Given the description of an element on the screen output the (x, y) to click on. 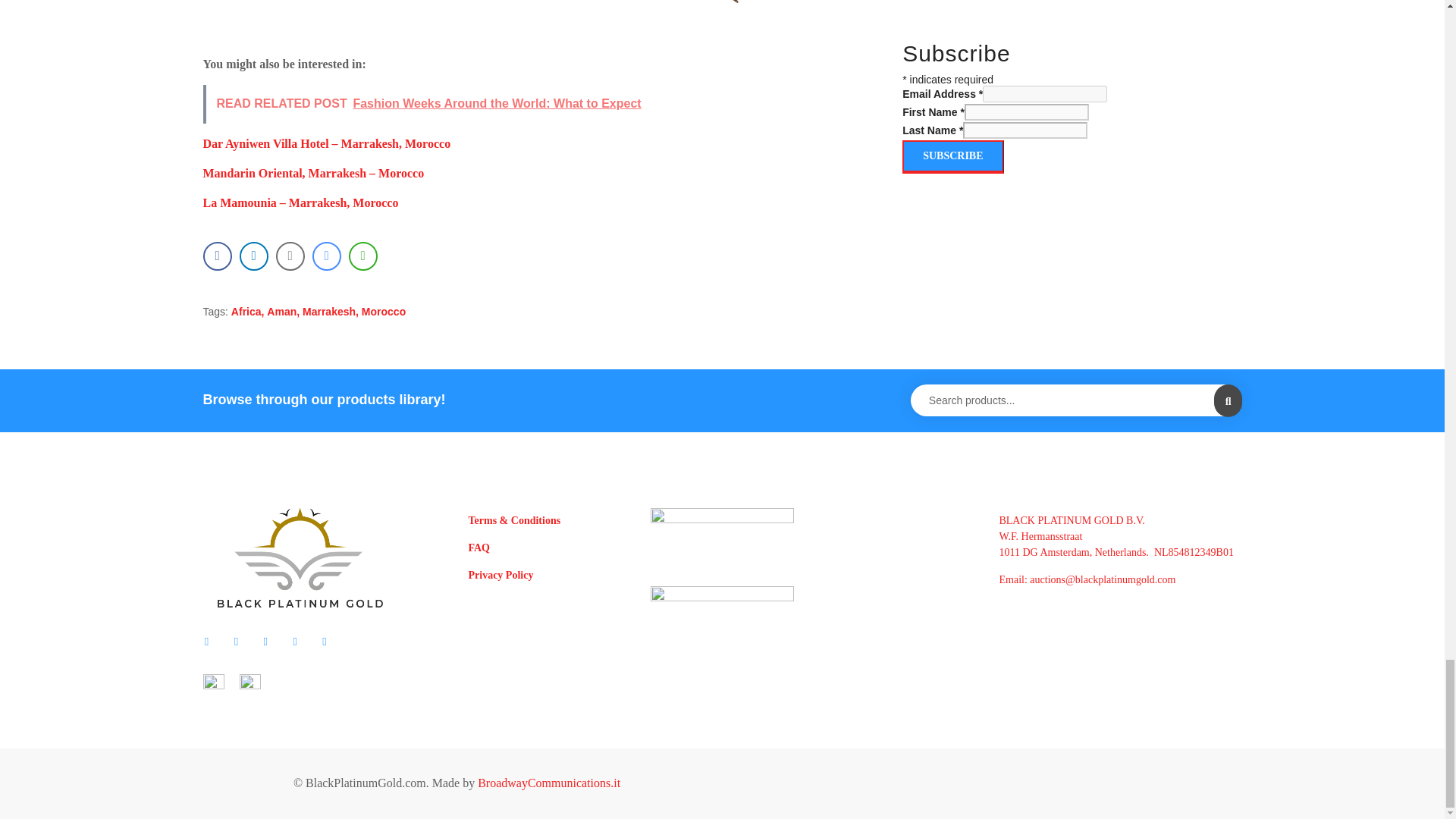
Subscribe (952, 156)
